Given the description of an element on the screen output the (x, y) to click on. 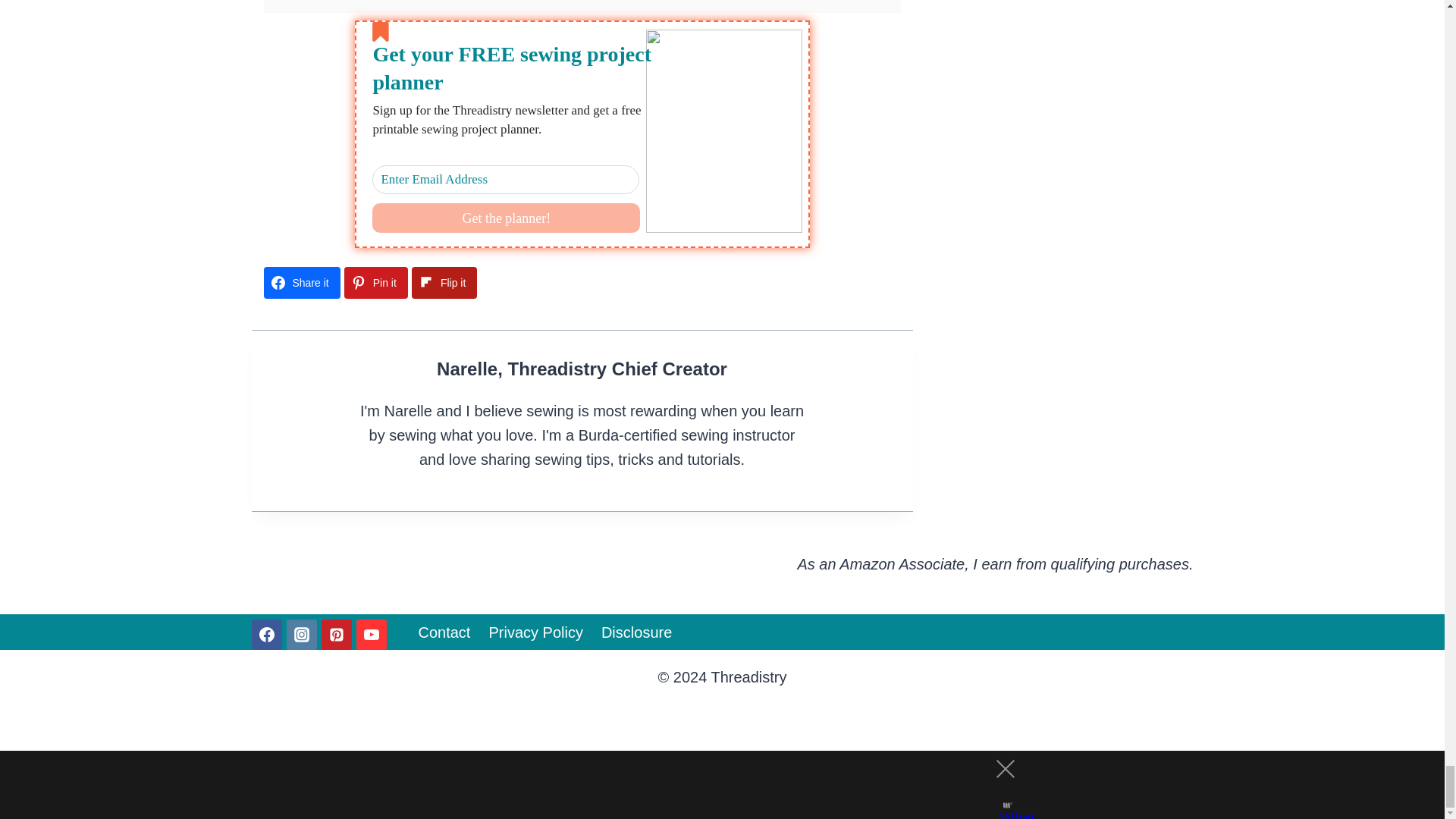
Share on Share it (301, 282)
Share on Pin it (375, 282)
Share on Flip it (444, 282)
